Given the description of an element on the screen output the (x, y) to click on. 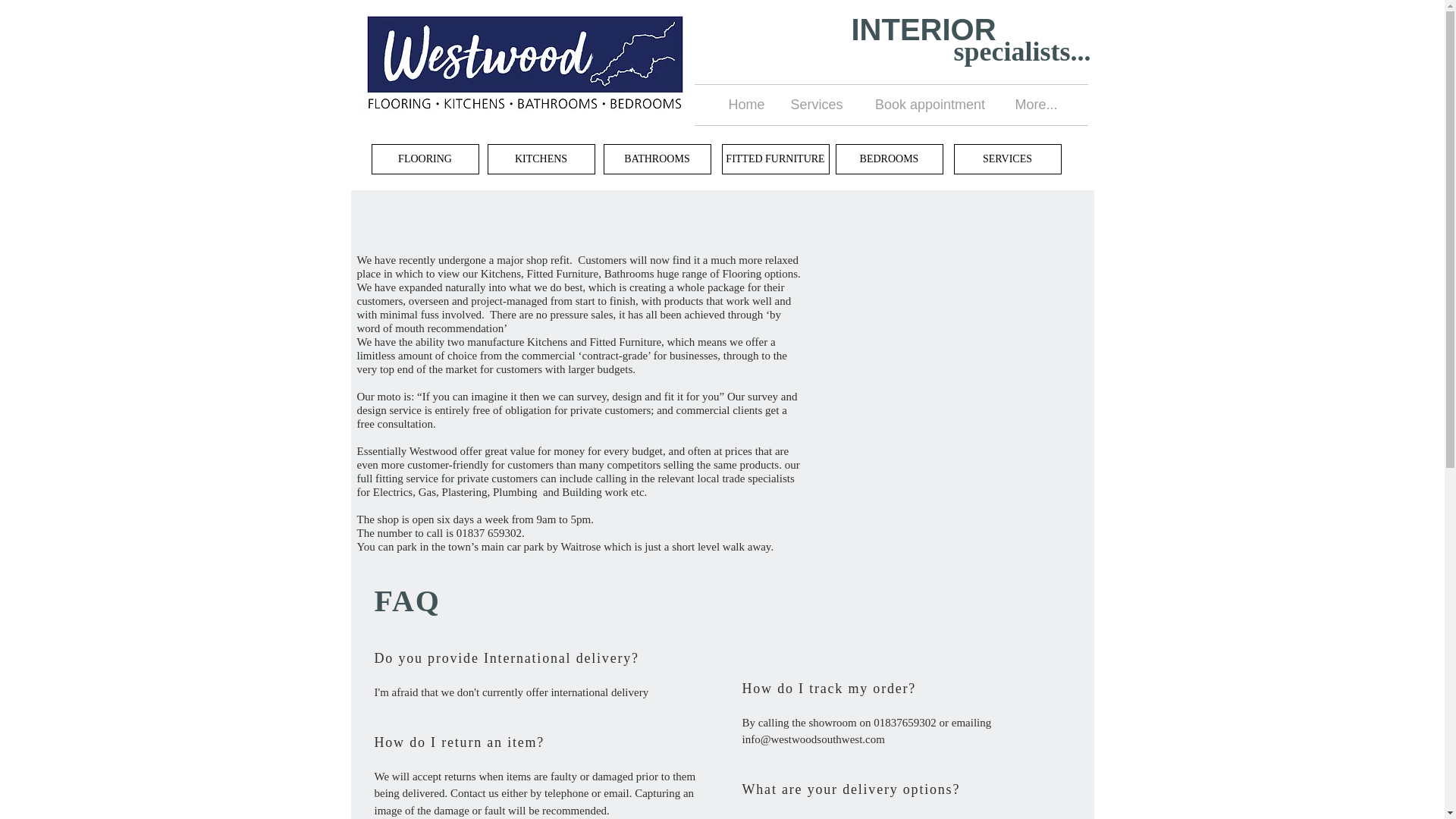
FITTED FURNITURE (775, 159)
BEDROOMS (889, 159)
FLOORING (425, 159)
Home (746, 105)
KITCHENS (540, 159)
SERVICES (1007, 159)
BATHROOMS (657, 159)
Services (816, 105)
Book appointment (930, 105)
